Given the description of an element on the screen output the (x, y) to click on. 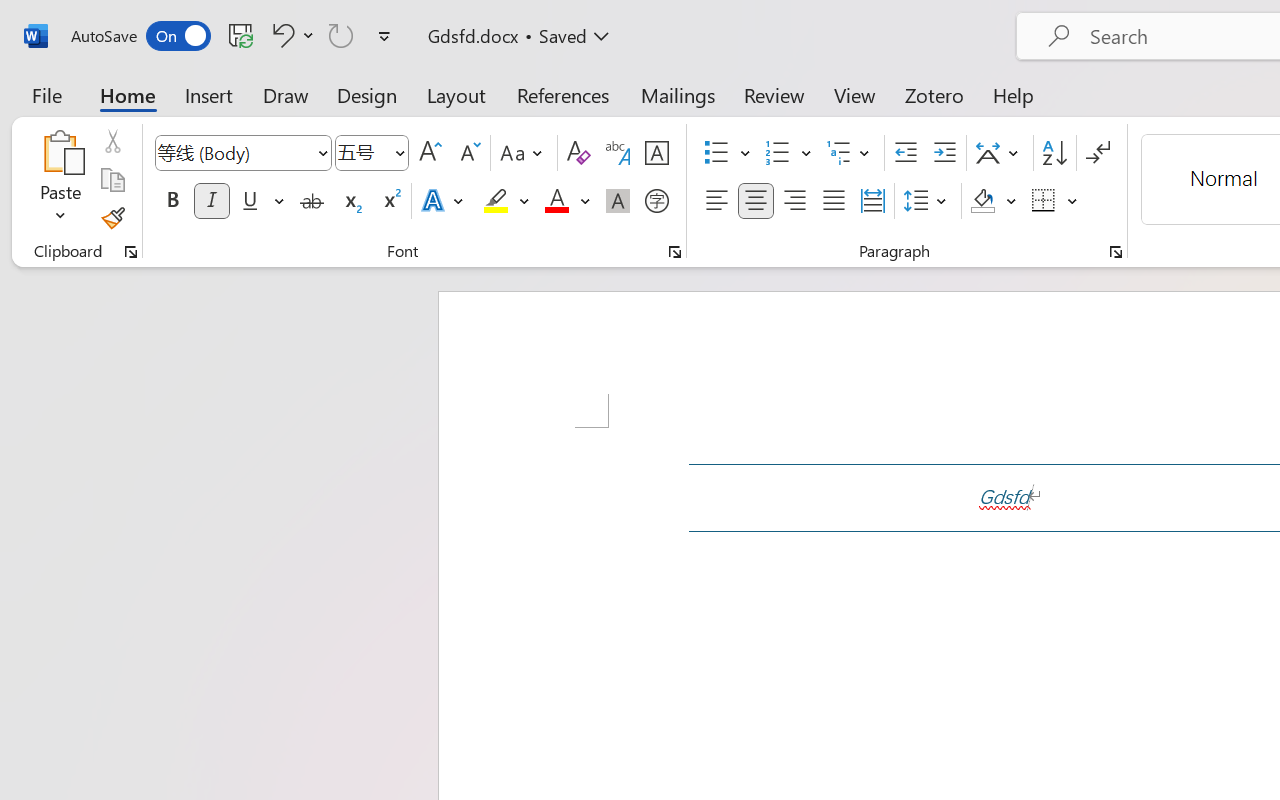
Justify (834, 201)
Superscript (390, 201)
Shading RGB(0, 0, 0) (982, 201)
Undo Style (280, 35)
Office Clipboard... (131, 252)
Multilevel List (850, 153)
Strikethrough (312, 201)
